Given the description of an element on the screen output the (x, y) to click on. 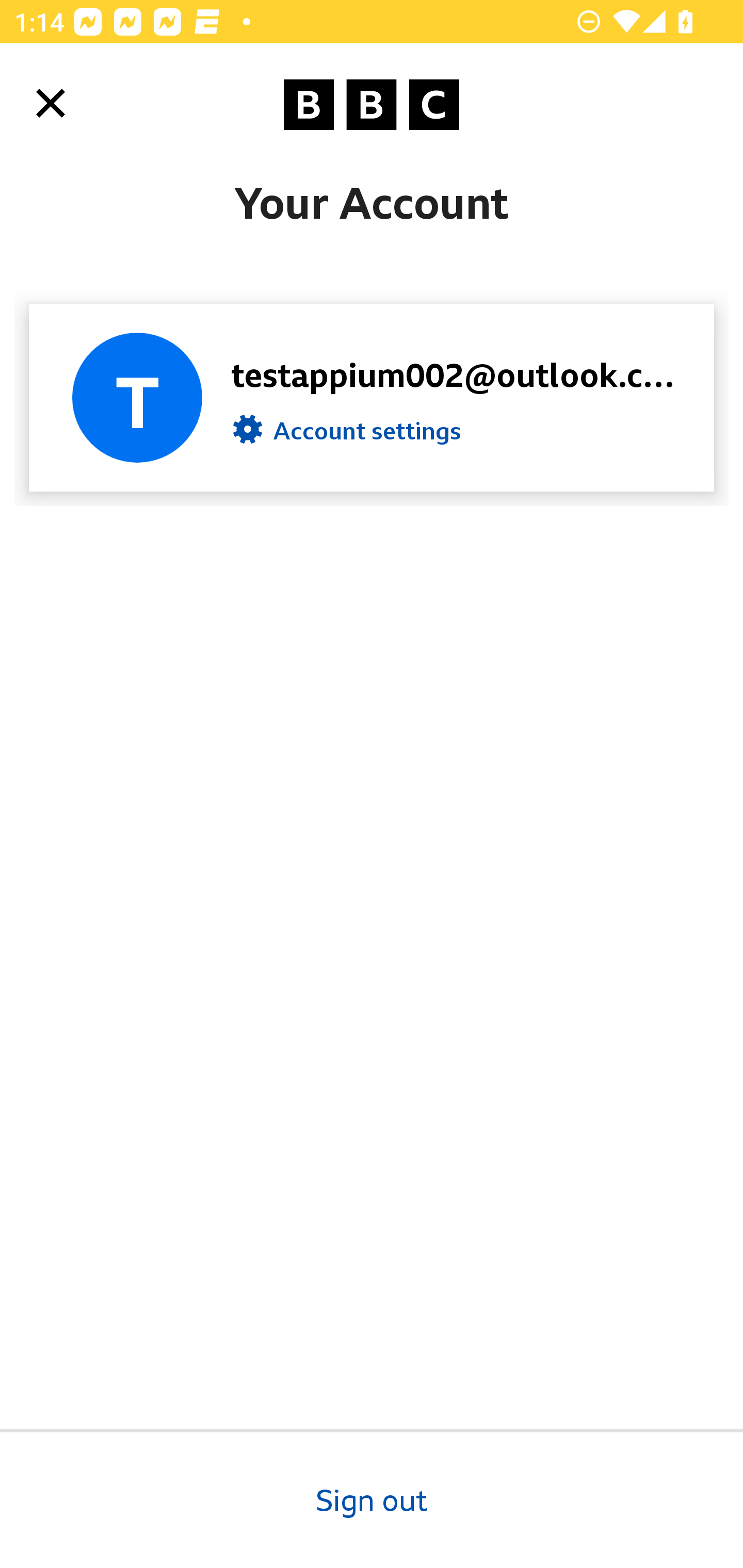
Close (50, 103)
testappium002@outlook.com Account settings (371, 397)
Account settings (346, 433)
Sign out (371, 1498)
